Given the description of an element on the screen output the (x, y) to click on. 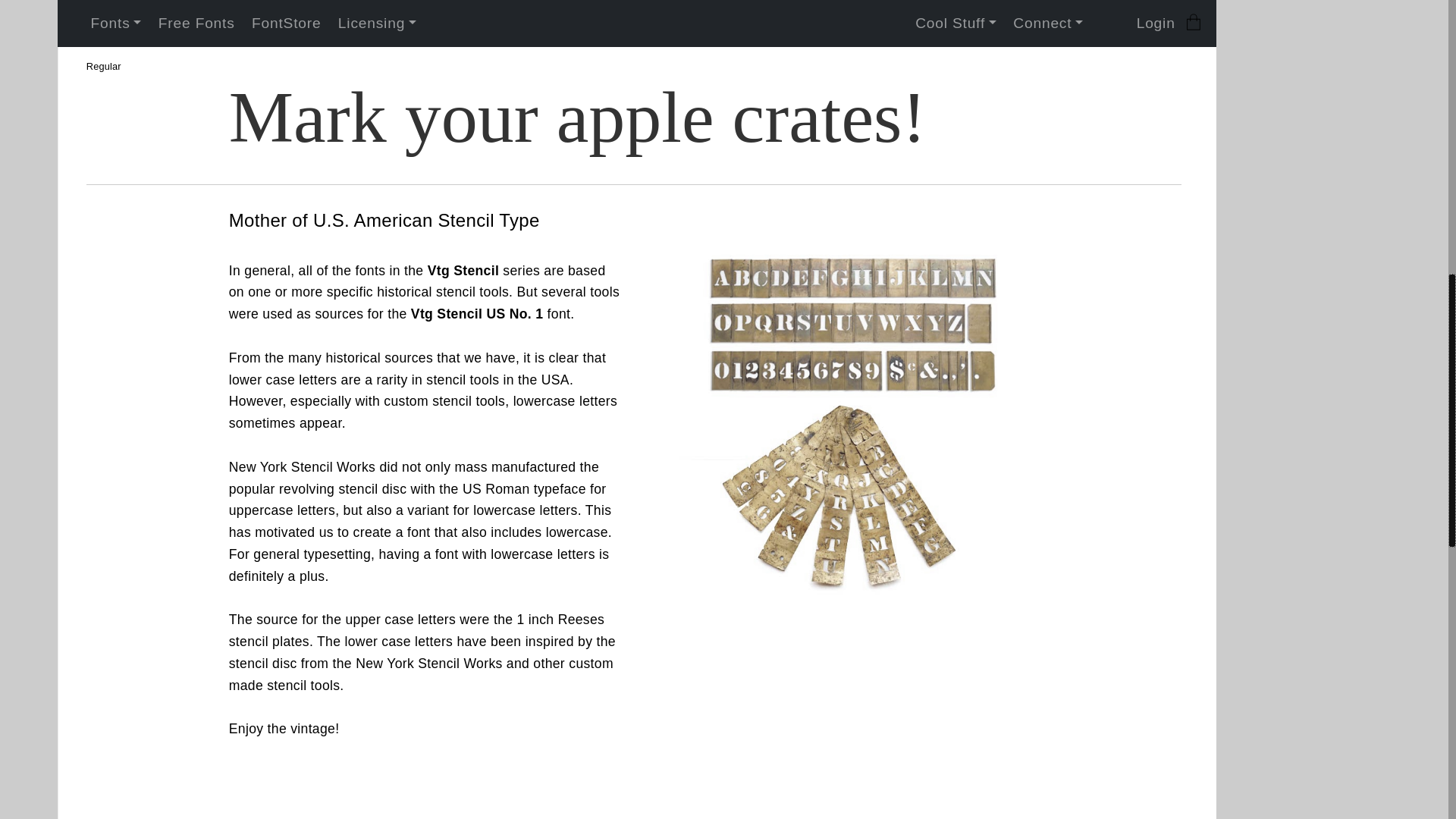
Mark your apple crates! (701, 117)
